Given the description of an element on the screen output the (x, y) to click on. 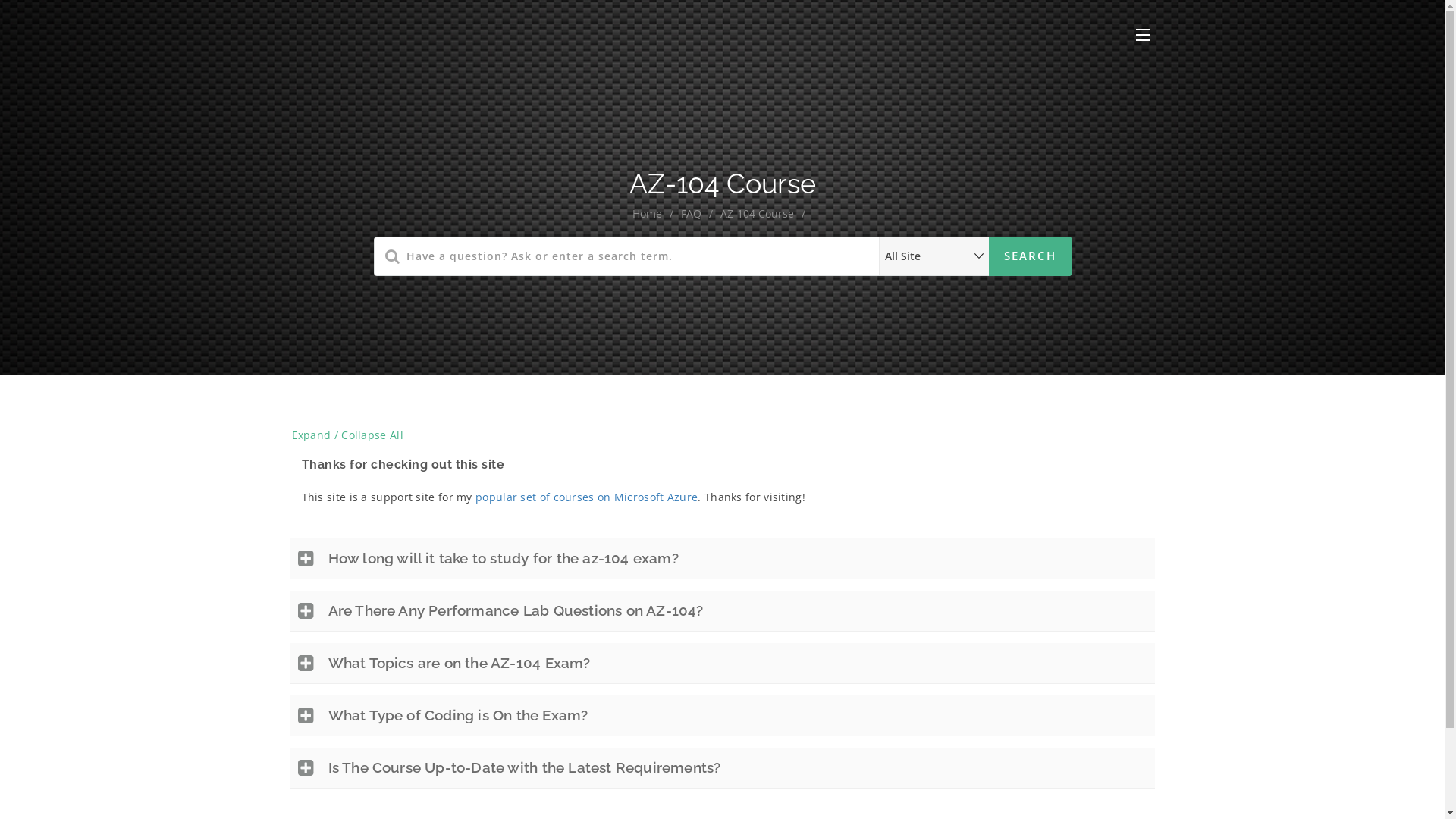
Are There Any Performance Lab Questions on AZ-104? Element type: text (514, 610)
Home Element type: text (647, 213)
FAQ Element type: text (690, 213)
Expand / Collapse All Element type: text (346, 434)
What Topics are on the AZ-104 Exam? Element type: text (458, 662)
Is The Course Up-to-Date with the Latest Requirements? Element type: text (523, 767)
How long will it take to study for the az-104 exam? Element type: text (502, 557)
What Type of Coding is On the Exam? Element type: text (457, 714)
Search Element type: text (1029, 256)
popular set of courses on Microsoft Azure Element type: text (586, 496)
